Given the description of an element on the screen output the (x, y) to click on. 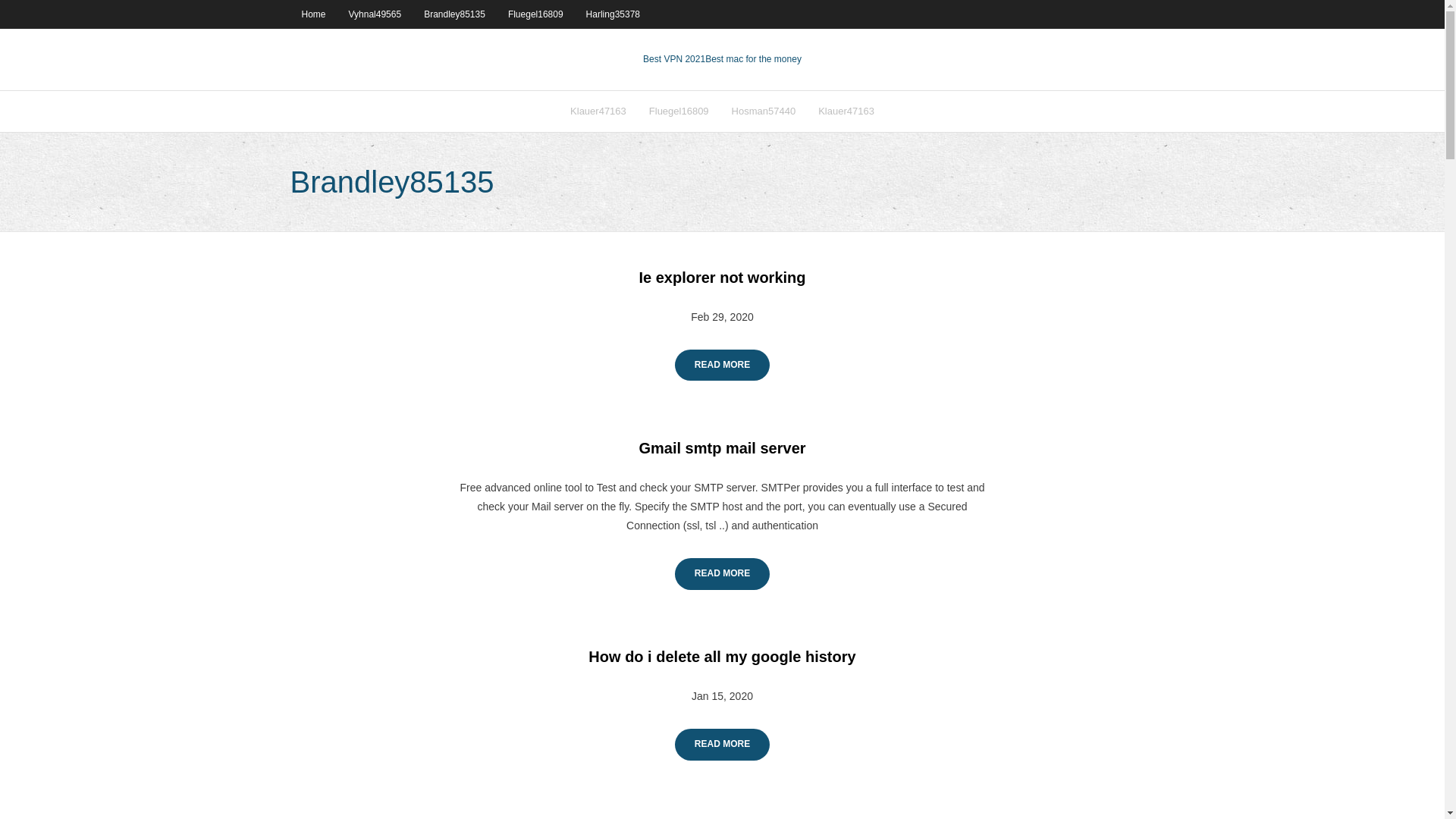
Fluegel16809 (678, 110)
VPN 2021 (753, 59)
Klauer47163 (598, 110)
Vyhnal49565 (375, 14)
Permalink to How do i delete all my google history (722, 656)
Ie explorer not working (722, 277)
Permalink to Gmail smtp mail server (722, 447)
Permalink to Ie explorer not working (722, 277)
Home (312, 14)
READ MORE (722, 744)
